Given the description of an element on the screen output the (x, y) to click on. 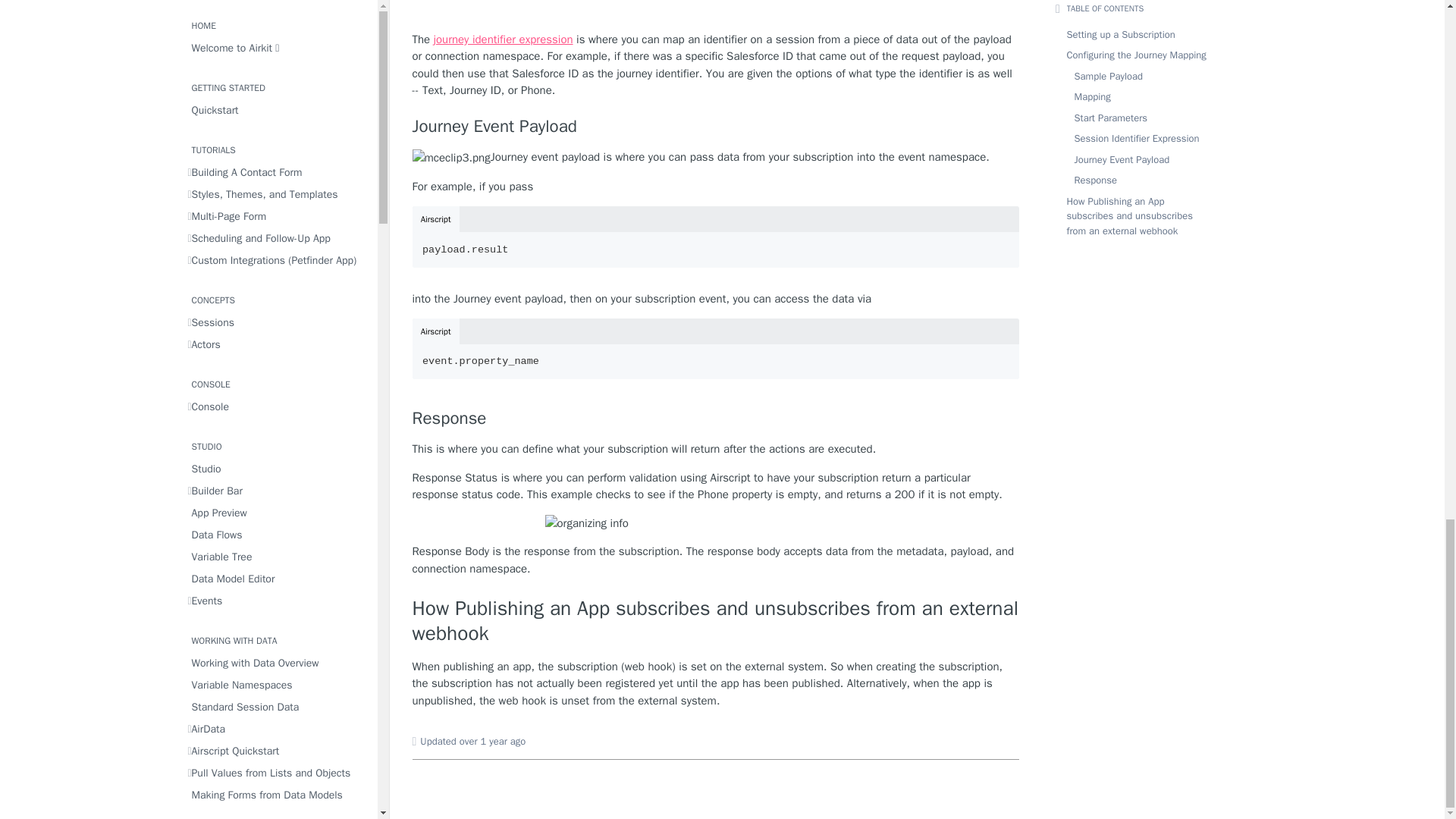
Journey Event Payload (715, 126)
Response (715, 418)
